Given the description of an element on the screen output the (x, y) to click on. 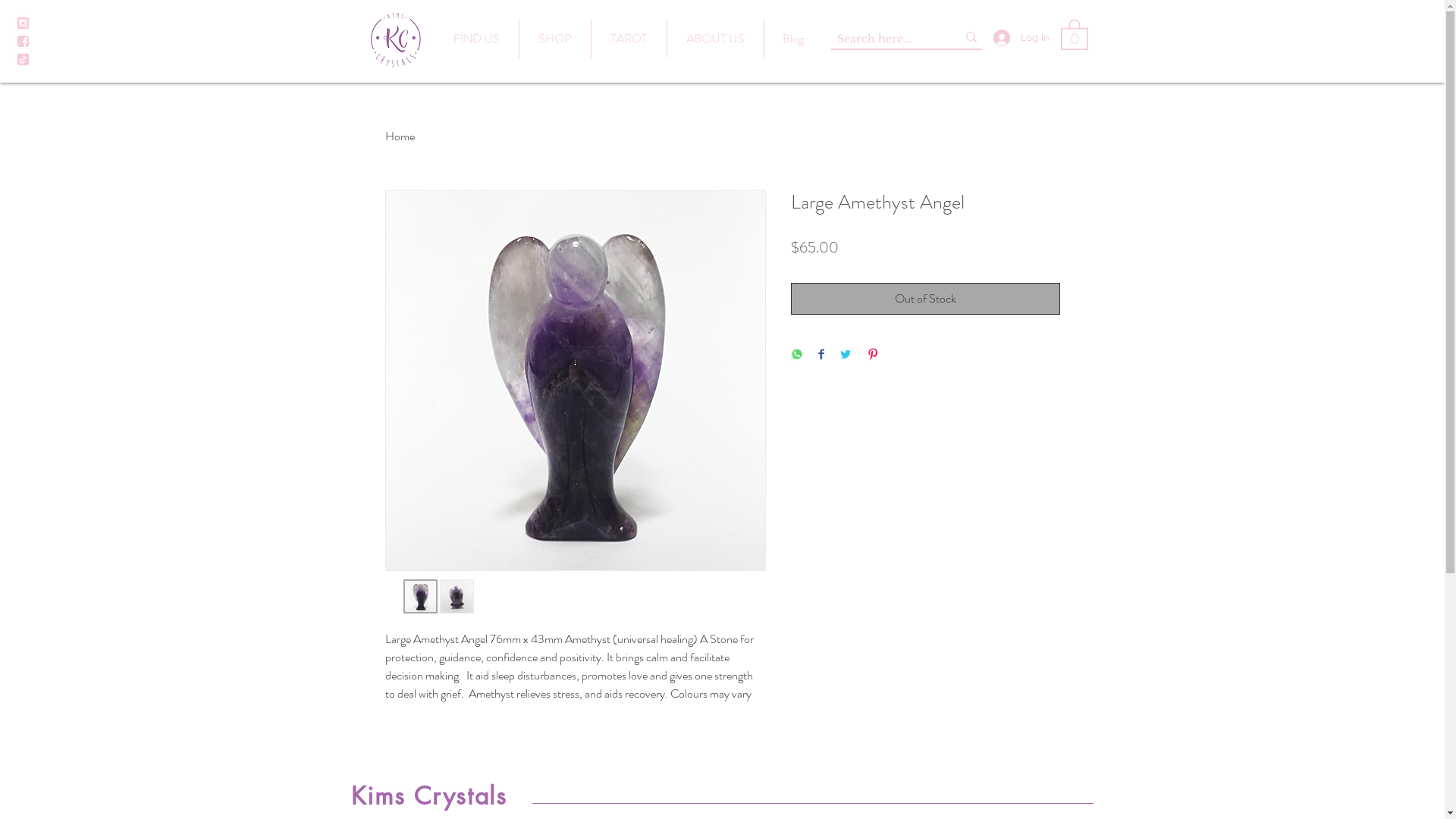
Home Element type: text (399, 135)
Log In Element type: text (1019, 37)
TAROT Element type: text (628, 38)
Blog Element type: text (793, 38)
Out of Stock Element type: text (924, 298)
FIND US Element type: text (475, 38)
Kims Crystals Element type: text (428, 795)
ABOUT US Element type: text (715, 38)
SHOP Element type: text (553, 38)
0 Element type: text (1073, 33)
